Given the description of an element on the screen output the (x, y) to click on. 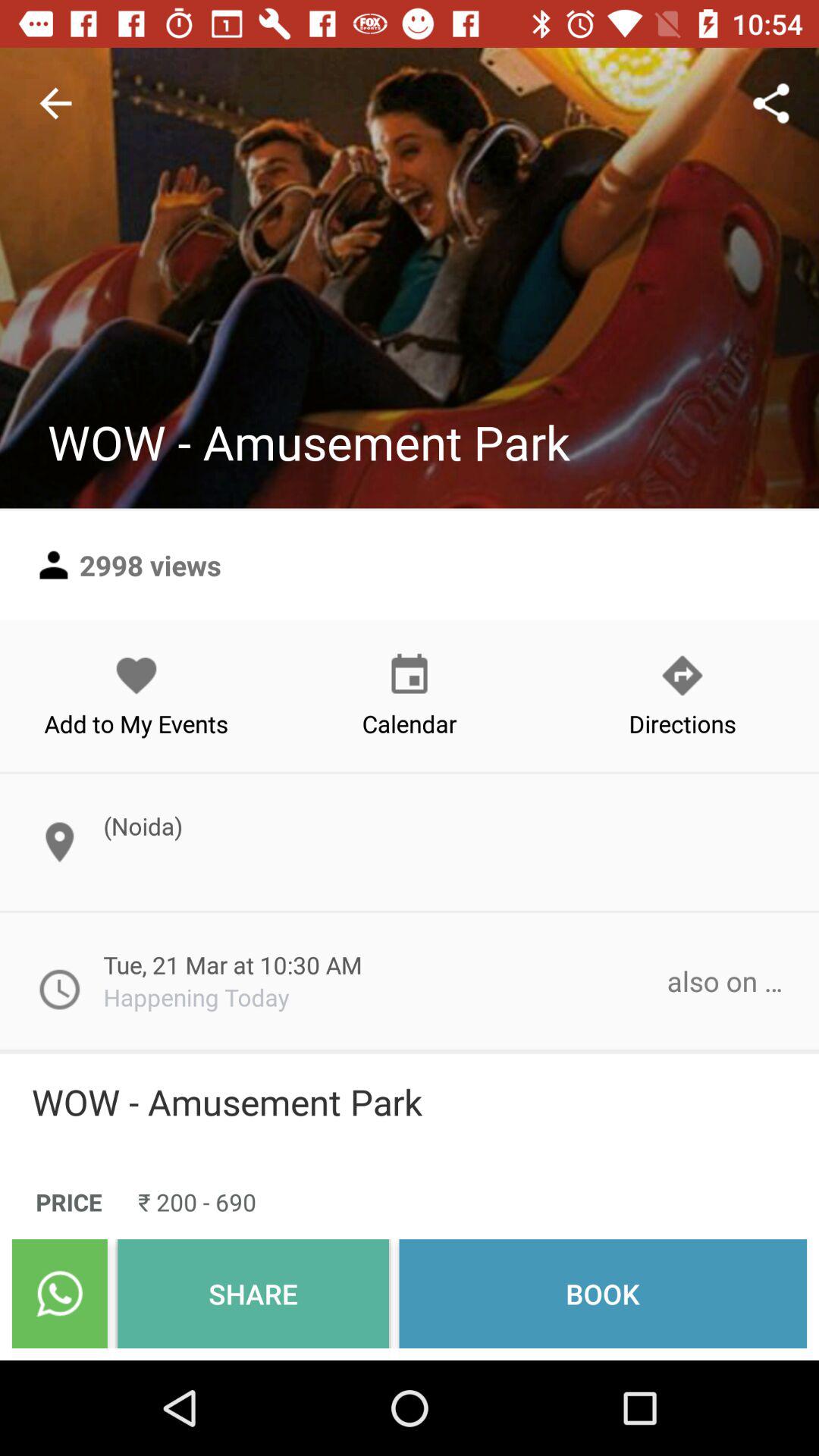
select item to the right of calendar item (682, 695)
